Given the description of an element on the screen output the (x, y) to click on. 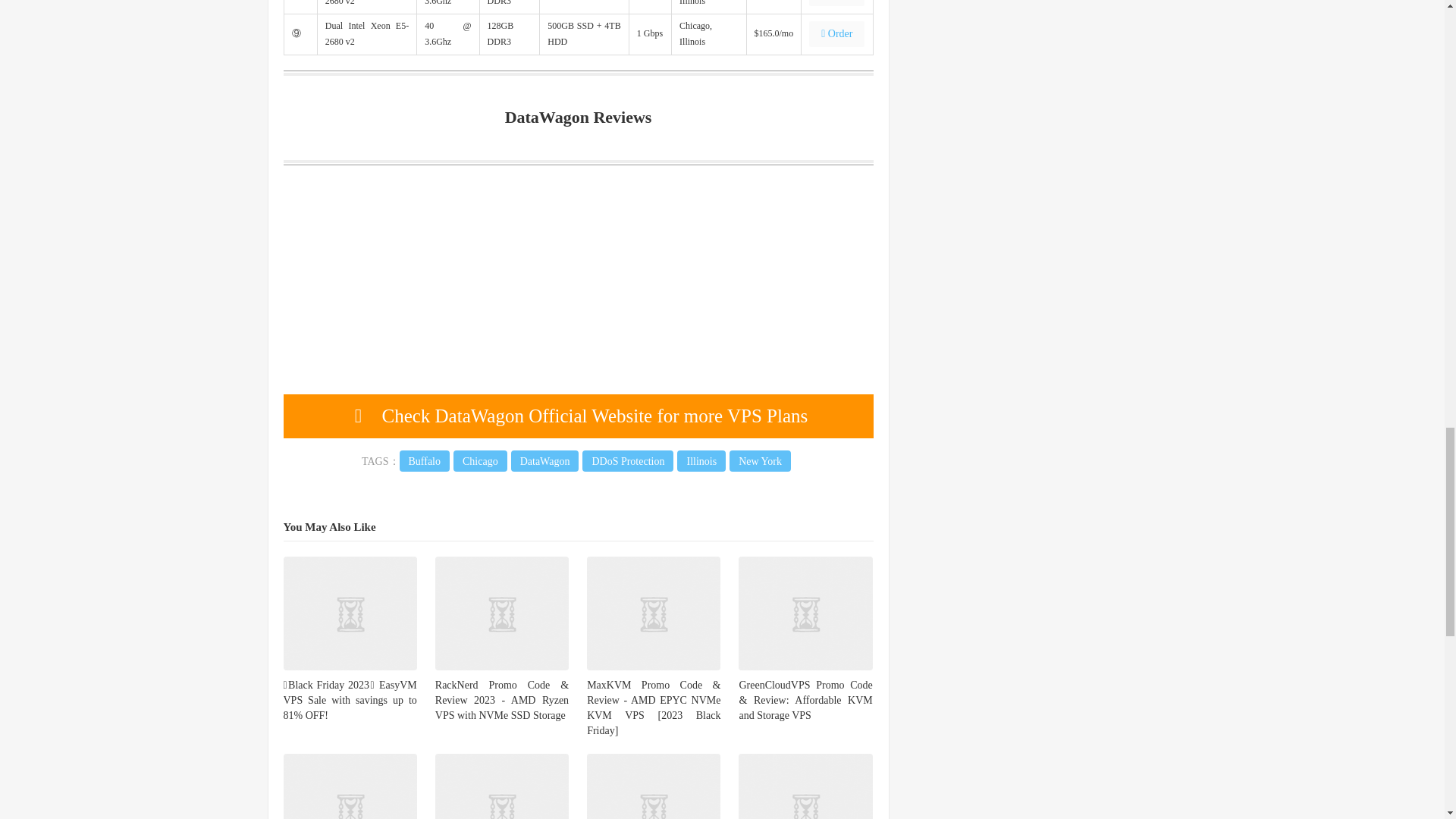
Order (836, 32)
Order (836, 33)
DataWagon (545, 460)
Chicago (479, 460)
Check DataWagon Official Website for more VPS Plans (578, 415)
Buffalo (423, 460)
Order (836, 2)
DDoS Protection (627, 460)
